Given the description of an element on the screen output the (x, y) to click on. 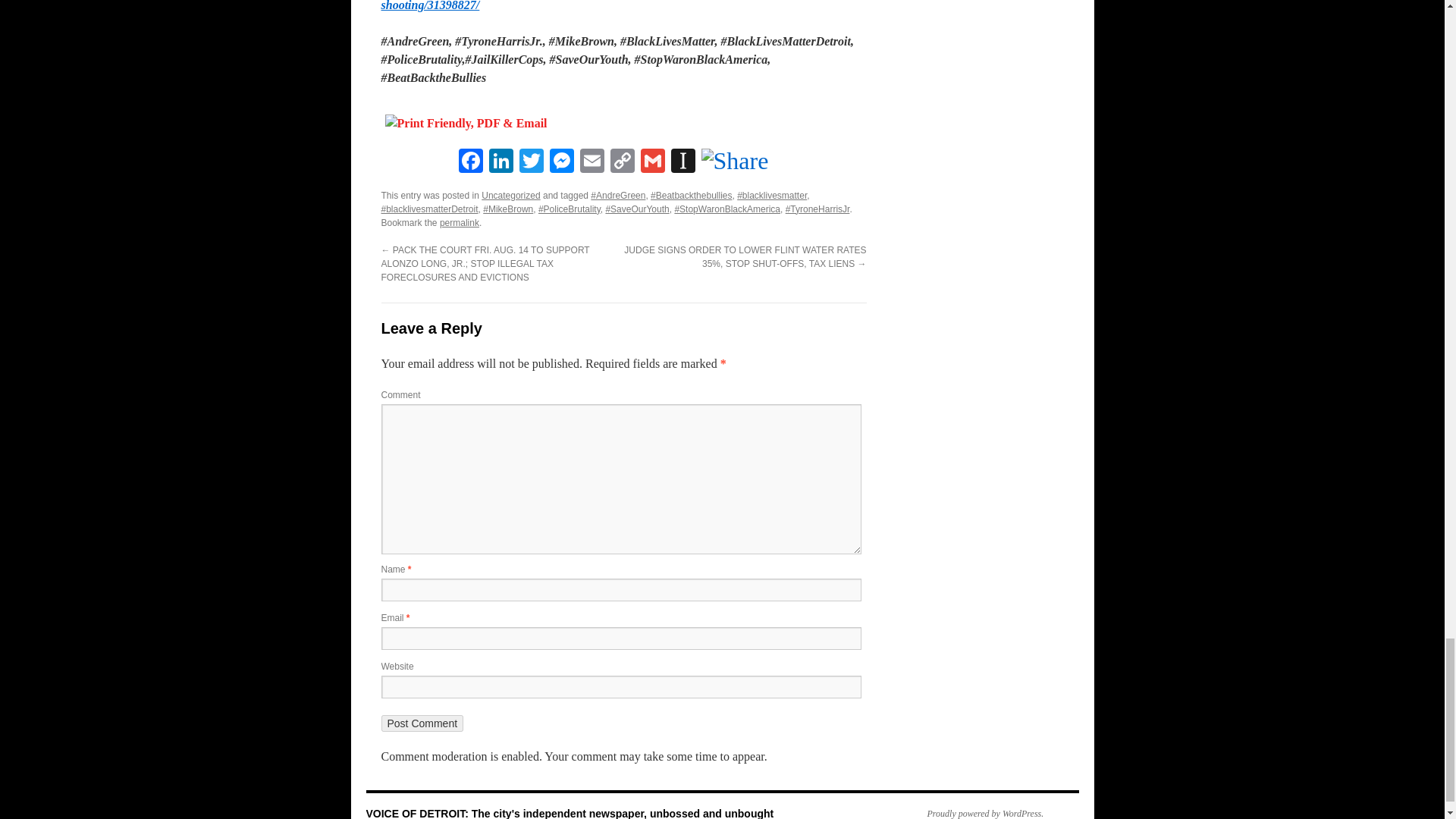
Facebook (469, 162)
Messenger (561, 162)
permalink (459, 222)
Twitter (530, 162)
Instapaper (681, 162)
Copy Link (622, 162)
Instapaper (681, 162)
Facebook (469, 162)
Email (591, 162)
Gmail (651, 162)
